Given the description of an element on the screen output the (x, y) to click on. 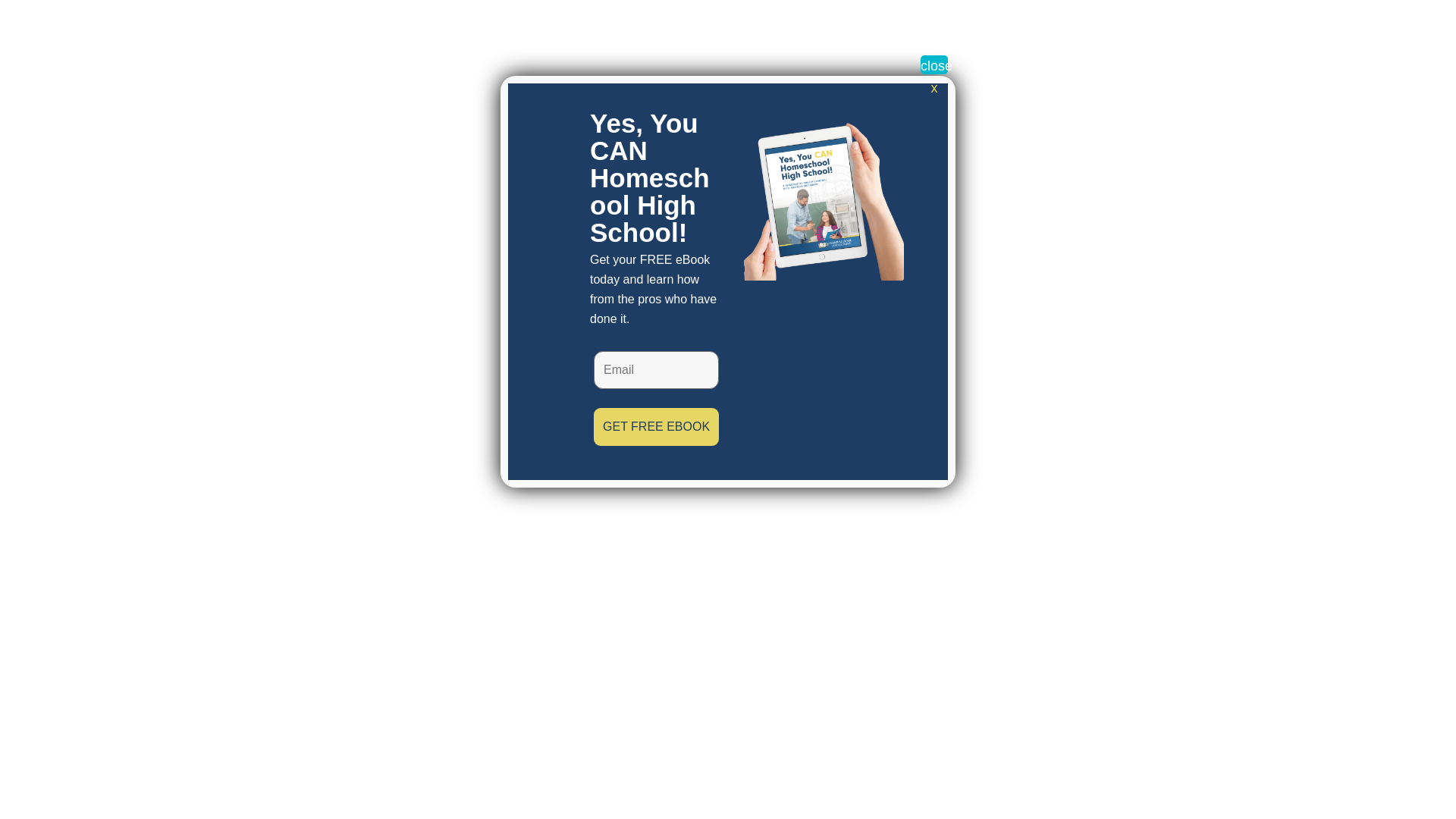
For Parents (1063, 24)
Register (1224, 24)
About Us (898, 24)
FIND YOUR COURSE (1352, 24)
GET FREE EBOOK (656, 426)
Contact Us (1148, 24)
Courses (978, 24)
HSC-Pop-up-eBook-mockup (818, 194)
